Given the description of an element on the screen output the (x, y) to click on. 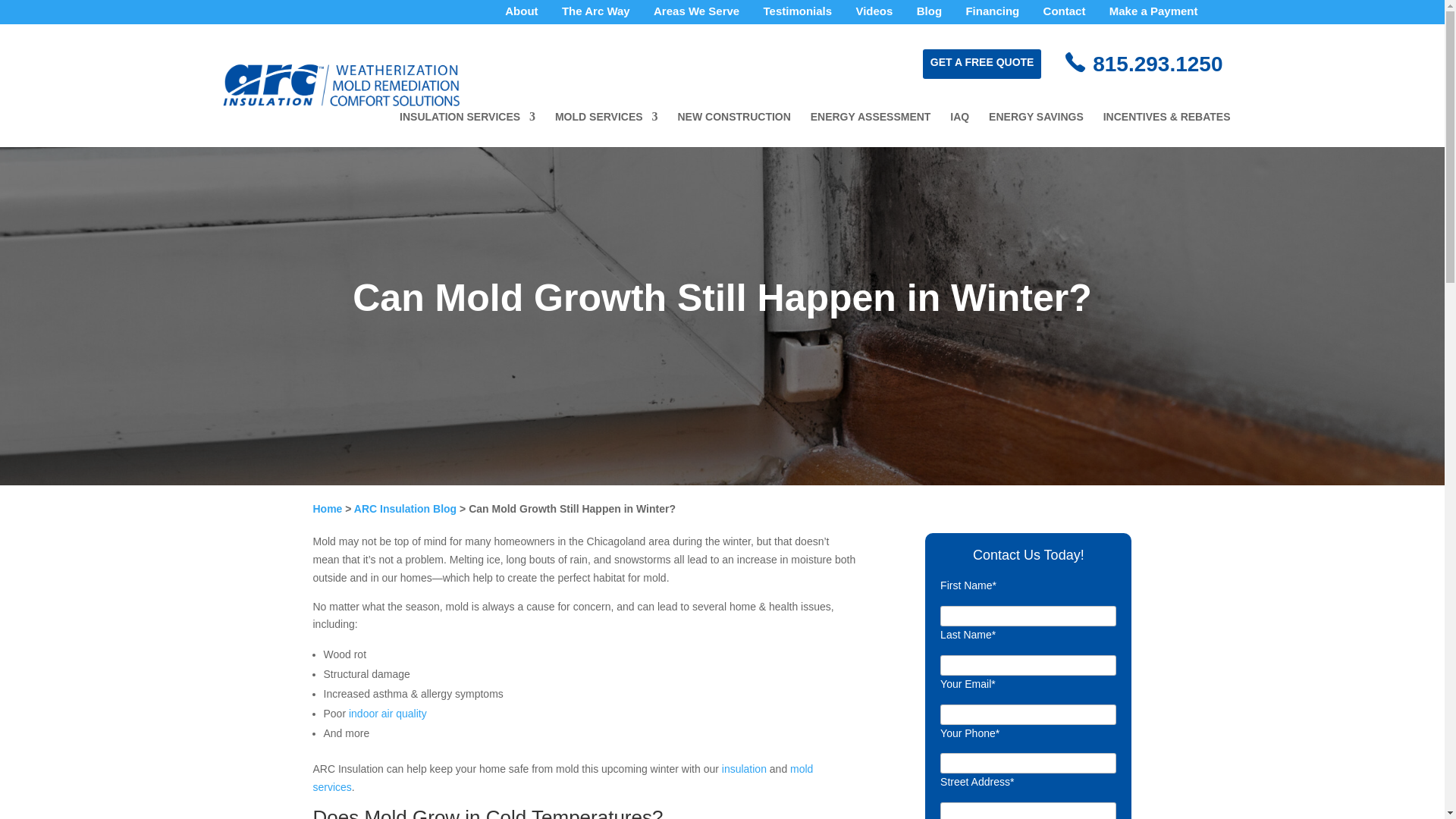
Testimonials (797, 15)
Make a Payment (1153, 15)
About (521, 15)
Go to ARC Insulation Blog. (405, 517)
Contact (1064, 15)
Go to ARC Insulation. (327, 508)
815.293.1250 (1158, 64)
Financing (992, 15)
The Arc Way (596, 15)
Videos (874, 15)
INSULATION SERVICES (466, 129)
NEW CONSTRUCTION (734, 129)
MOLD SERVICES (606, 129)
GET A FREE QUOTE (981, 61)
Blog (929, 15)
